Given the description of an element on the screen output the (x, y) to click on. 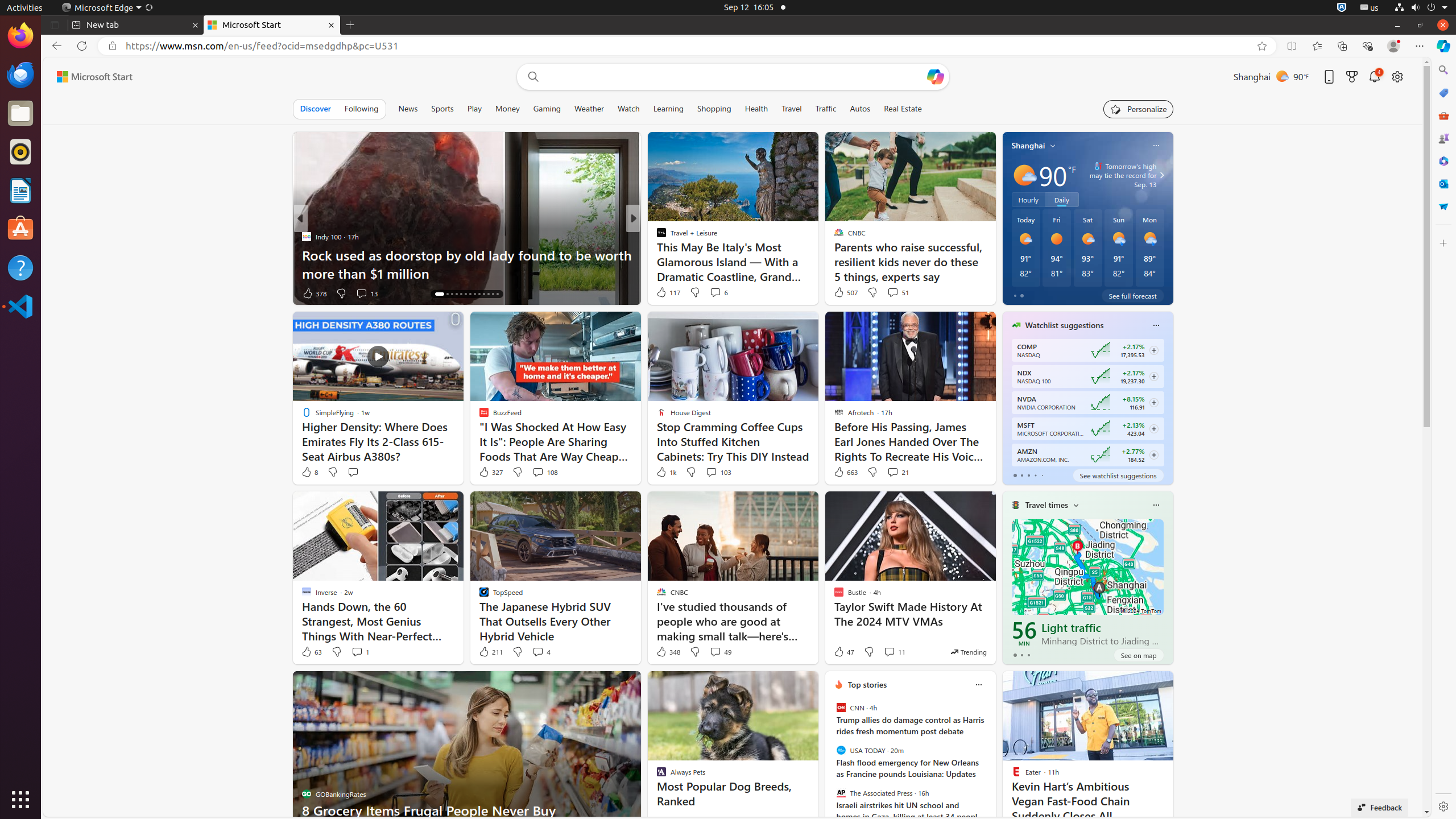
Settings Element type: push-button (1443, 806)
Coffee lover spotlights money-saving alternative to Keurig pods: 'Tastes so much better' Element type: link (816, 263)
NASA Releases Extraordinary Never-Before-Seen Images of the Universe Element type: link (816, 263)
467 Like Element type: toggle-button (664, 292)
View comments 28 Comment Element type: link (716, 292)
